Given the description of an element on the screen output the (x, y) to click on. 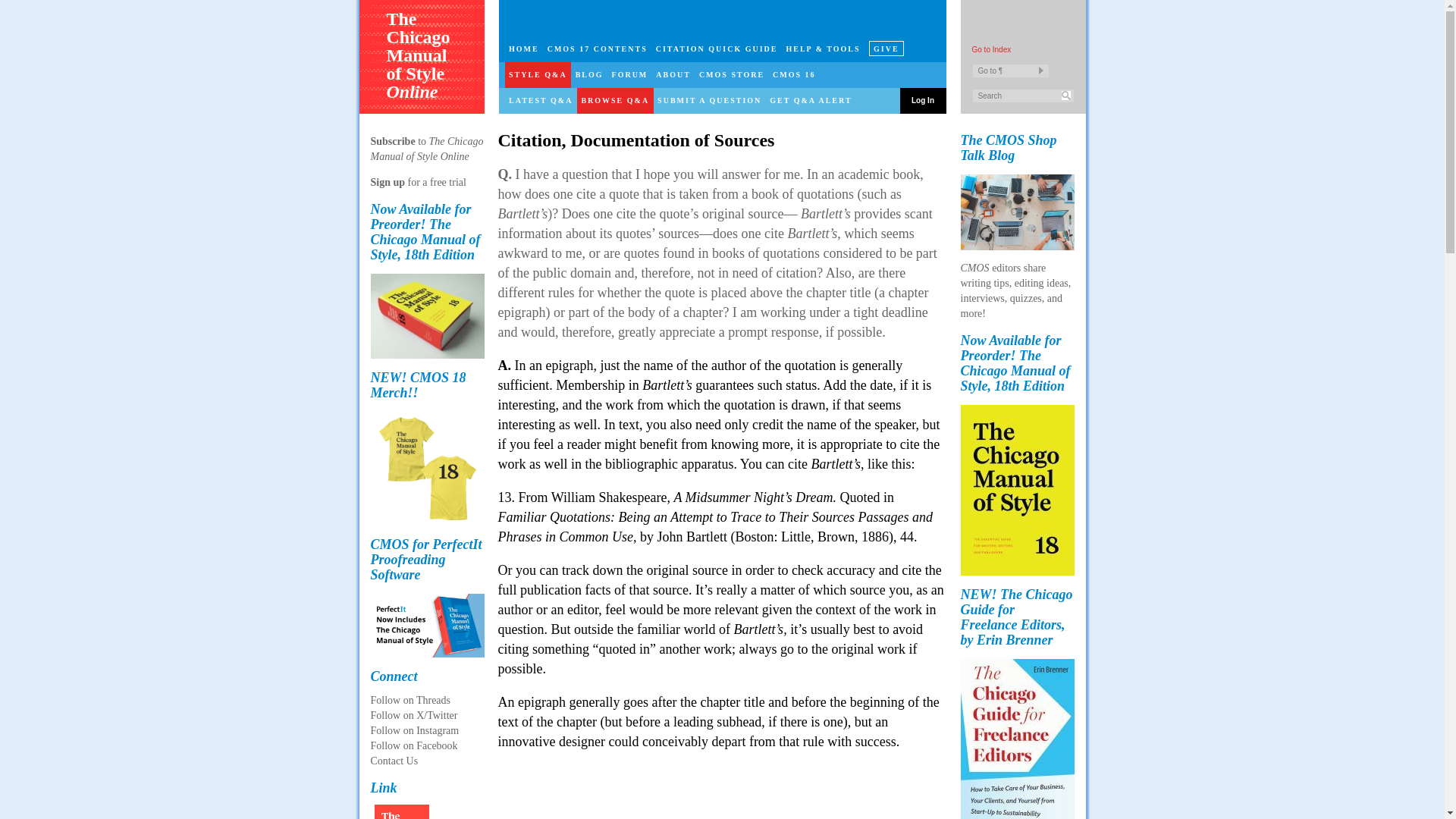
Sign up for a free trial (417, 182)
The Chicago Manual of Style Online (422, 66)
Contact Us (393, 760)
CMOS 17 CONTENTS (596, 49)
BLOG (588, 74)
ABOUT (673, 74)
Subscribe (393, 141)
Follow on Threads (409, 699)
to (421, 141)
CMOS for PerfectIt (426, 625)
FORUM (629, 74)
Follow on Instagram (413, 730)
Chicago Manual of Style, 18th Edition (426, 315)
Follow on Facebook (413, 745)
HOME (524, 49)
